Given the description of an element on the screen output the (x, y) to click on. 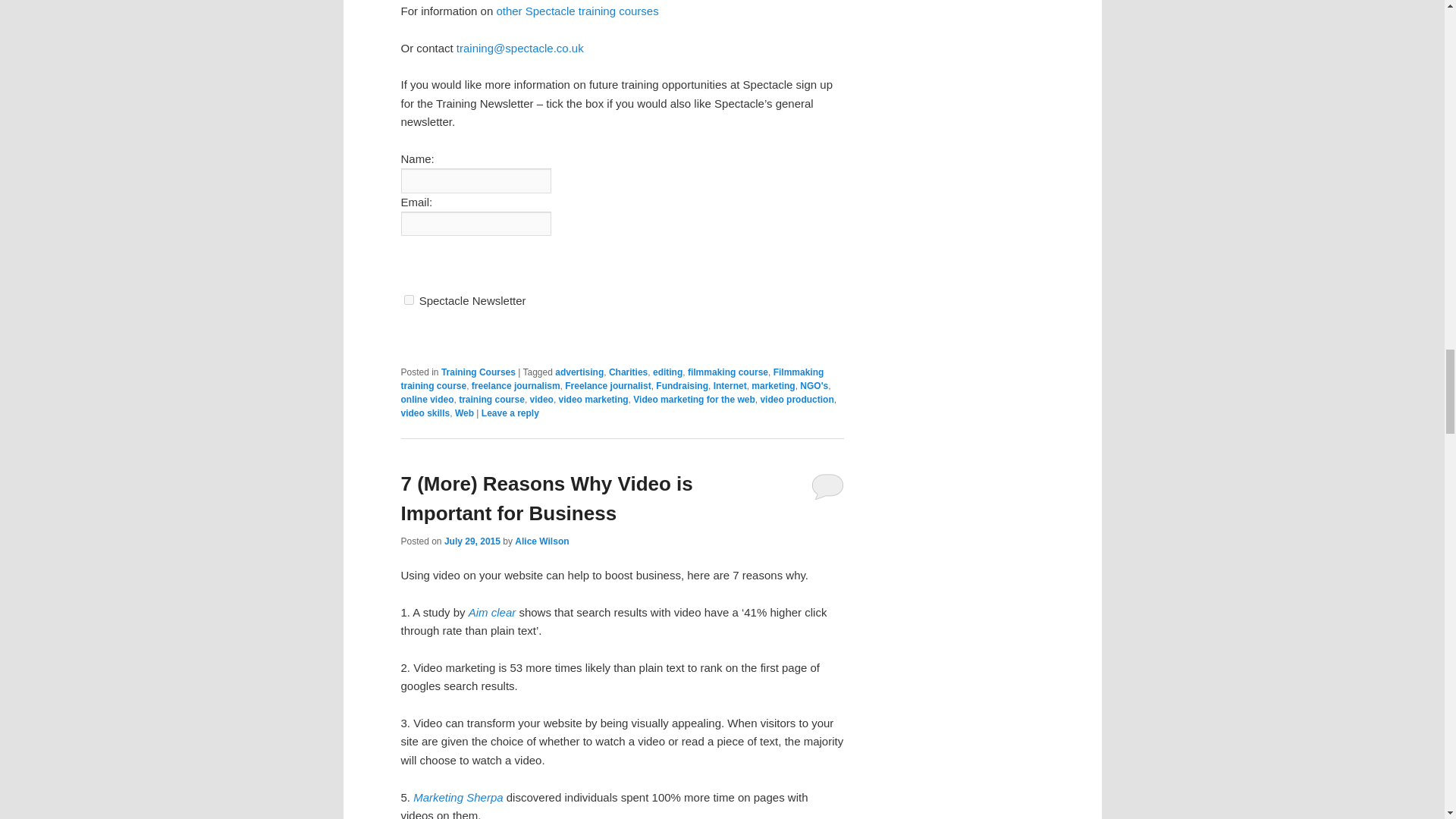
on (408, 299)
1:12 pm (472, 541)
View all posts by Alice Wilson (542, 541)
